Given the description of an element on the screen output the (x, y) to click on. 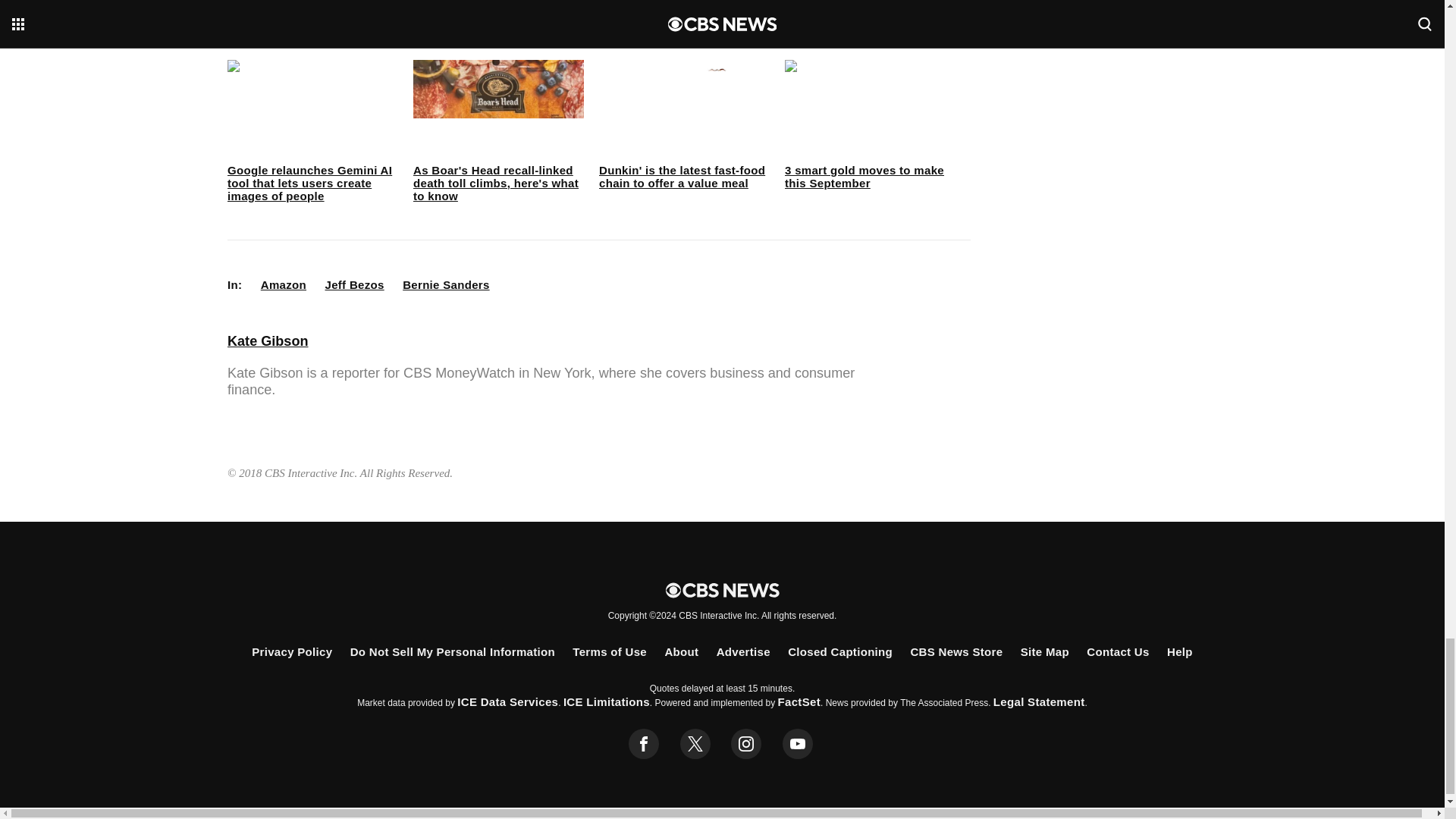
youtube (797, 743)
twitter (694, 743)
instagram (745, 743)
facebook (643, 743)
